Given the description of an element on the screen output the (x, y) to click on. 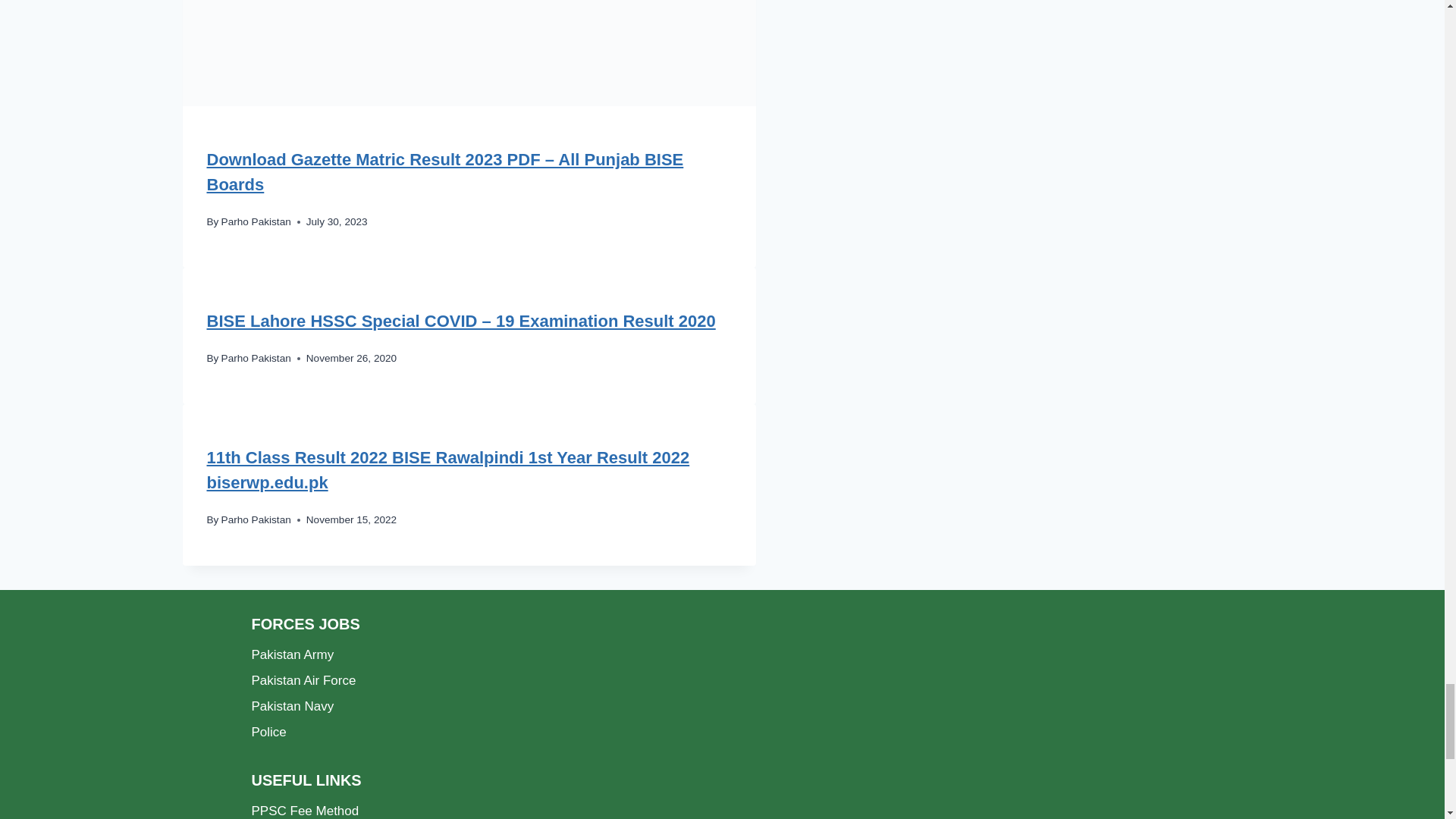
Parho Pakistan (256, 221)
